Given the description of an element on the screen output the (x, y) to click on. 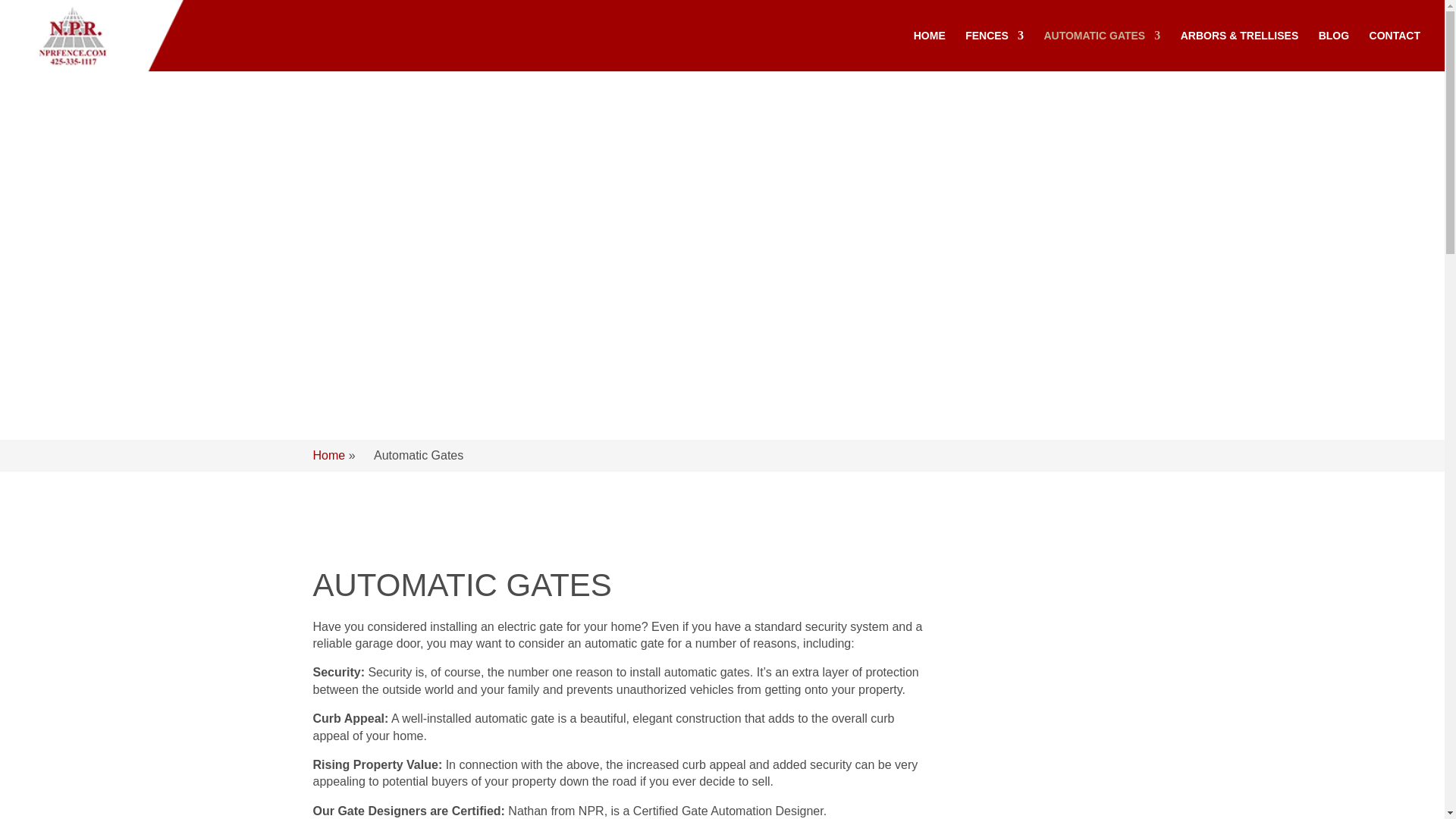
FENCES (994, 50)
AUTOMATIC GATES (1101, 50)
CONTACT (1395, 50)
